Given the description of an element on the screen output the (x, y) to click on. 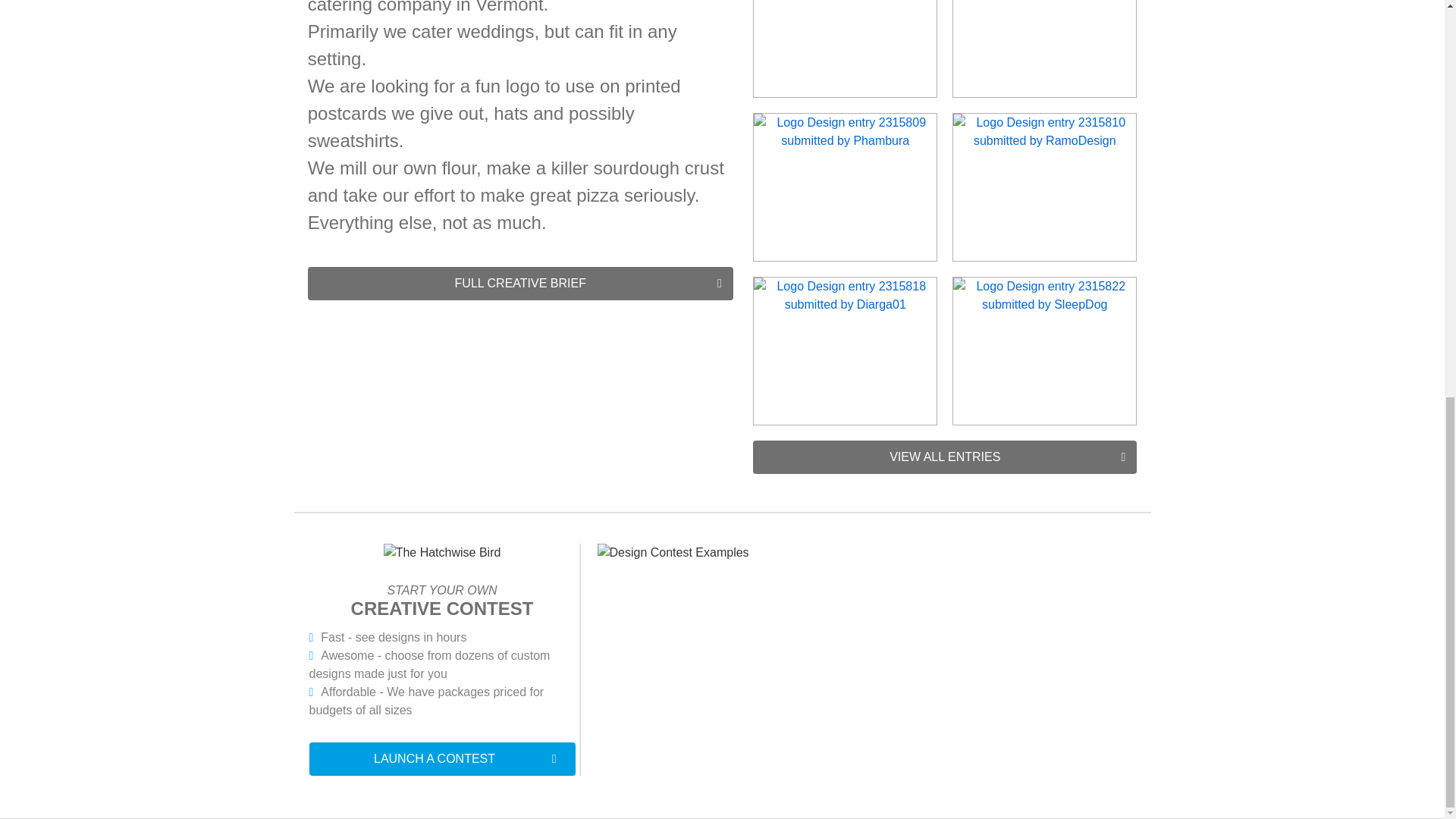
LAUNCH A CONTEST (441, 758)
VIEW ALL ENTRIES (944, 457)
FULL CREATIVE BRIEF (520, 283)
